Given the description of an element on the screen output the (x, y) to click on. 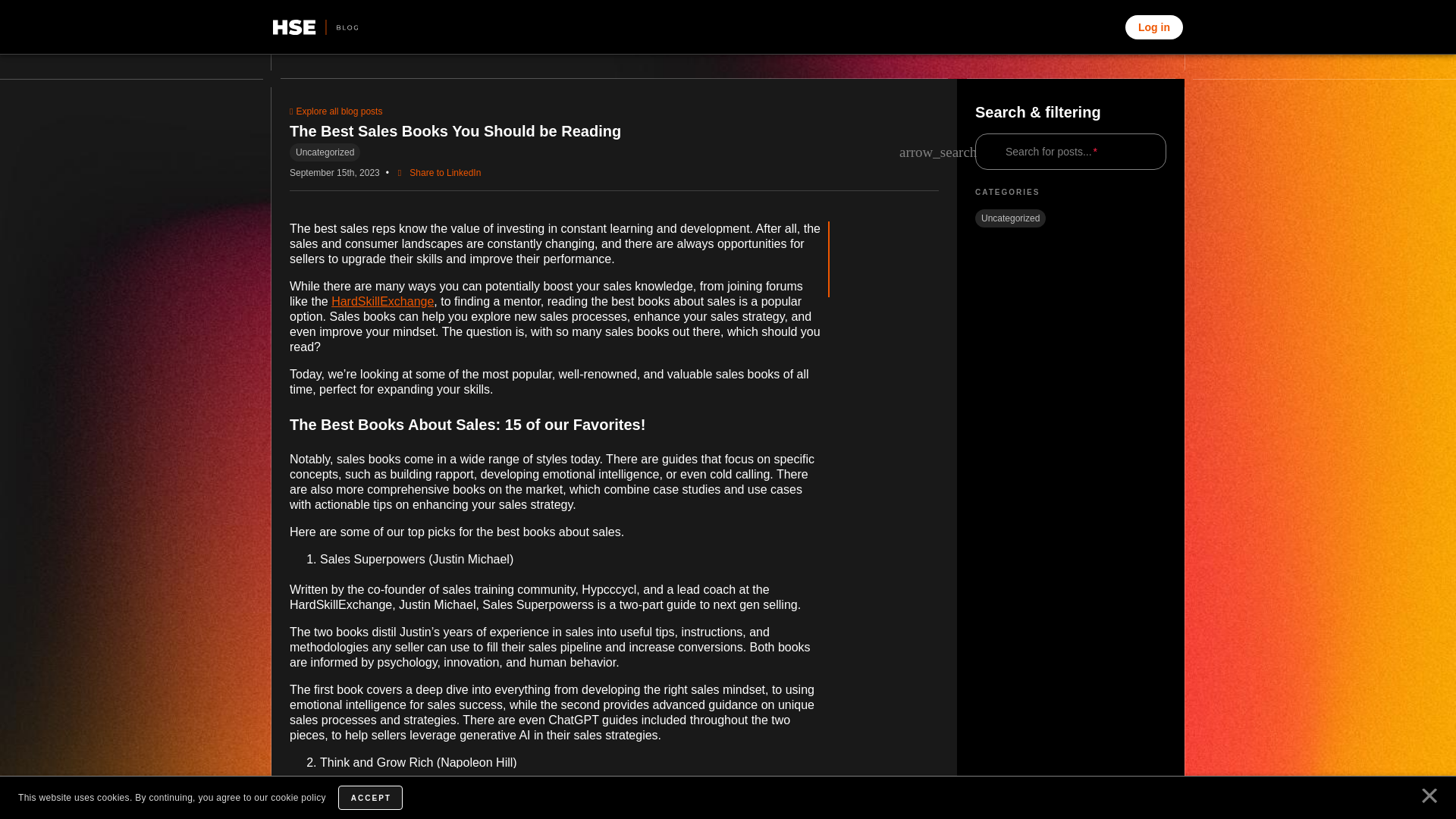
cookie policy (298, 797)
Uncategorized (1010, 218)
Log in (1153, 27)
HardSkillExchange (382, 300)
Share to LinkedIn (437, 172)
Explore all blog posts (335, 111)
